Given the description of an element on the screen output the (x, y) to click on. 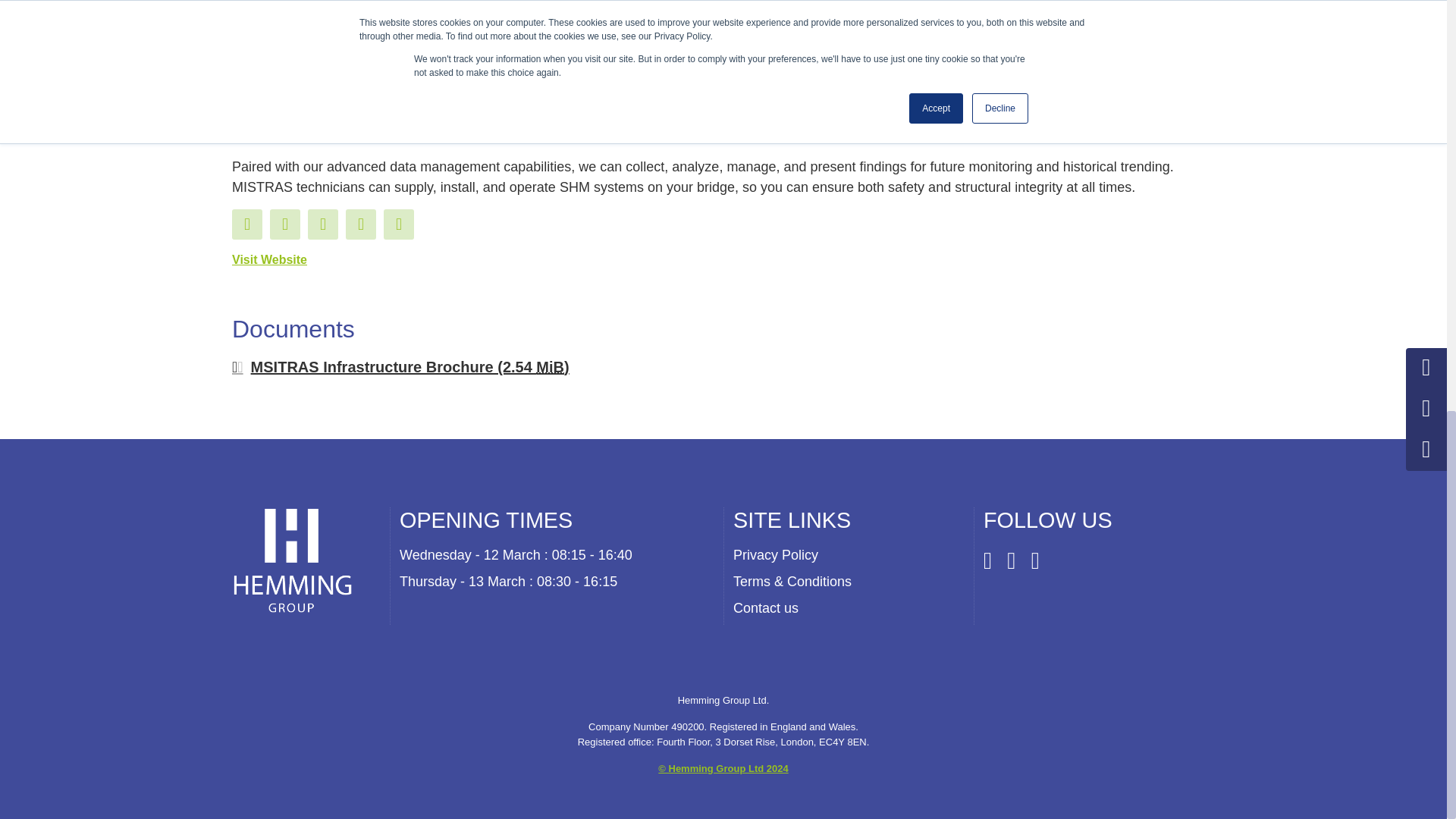
Visit Twitter Page (398, 224)
Visit Twitter Page (360, 224)
Visit Twitter Page (322, 224)
Visit Twitter Page (284, 224)
Visit Facebook Page (246, 224)
